Given the description of an element on the screen output the (x, y) to click on. 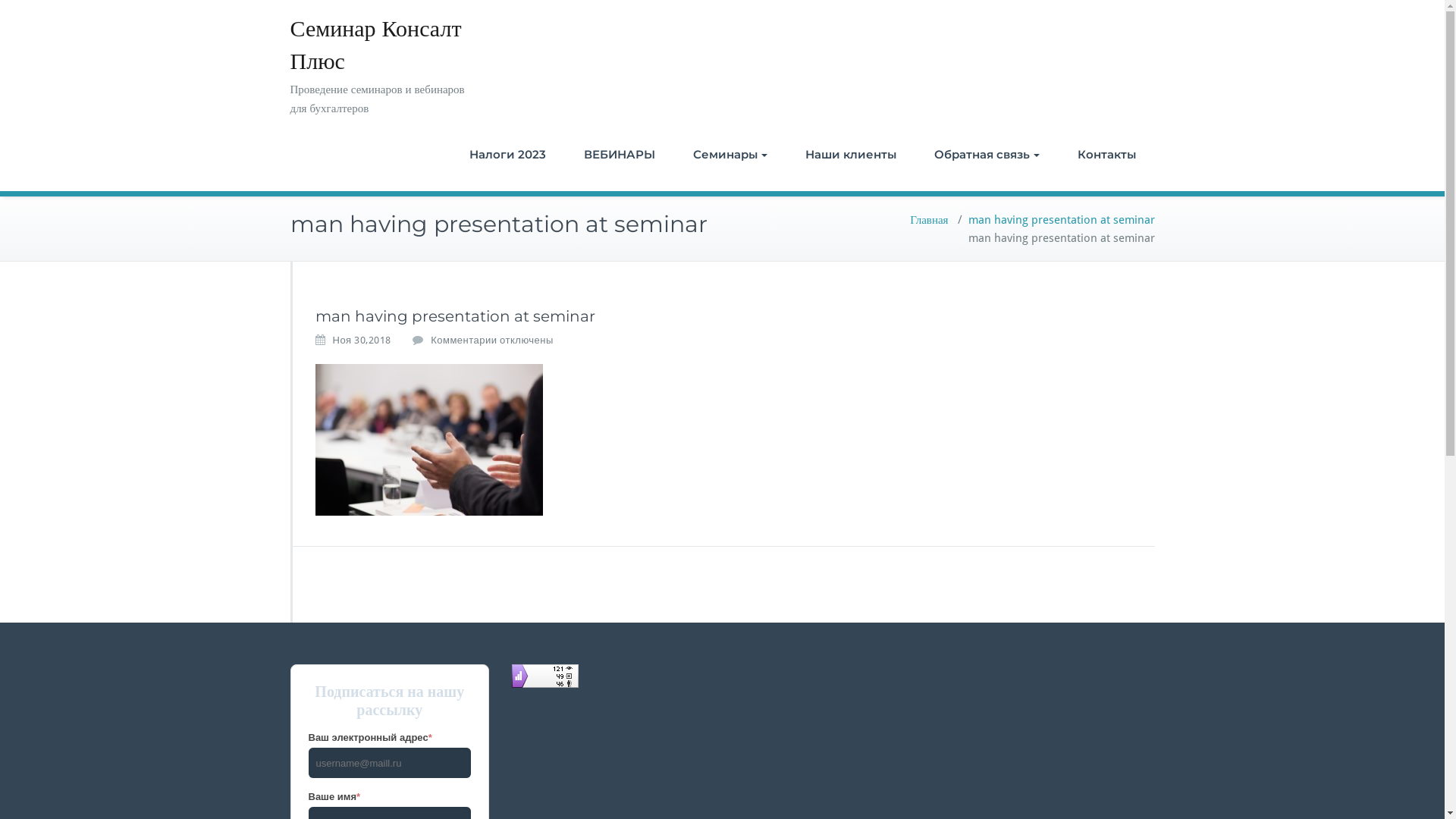
man having presentation at seminar Element type: text (1060, 219)
